Given the description of an element on the screen output the (x, y) to click on. 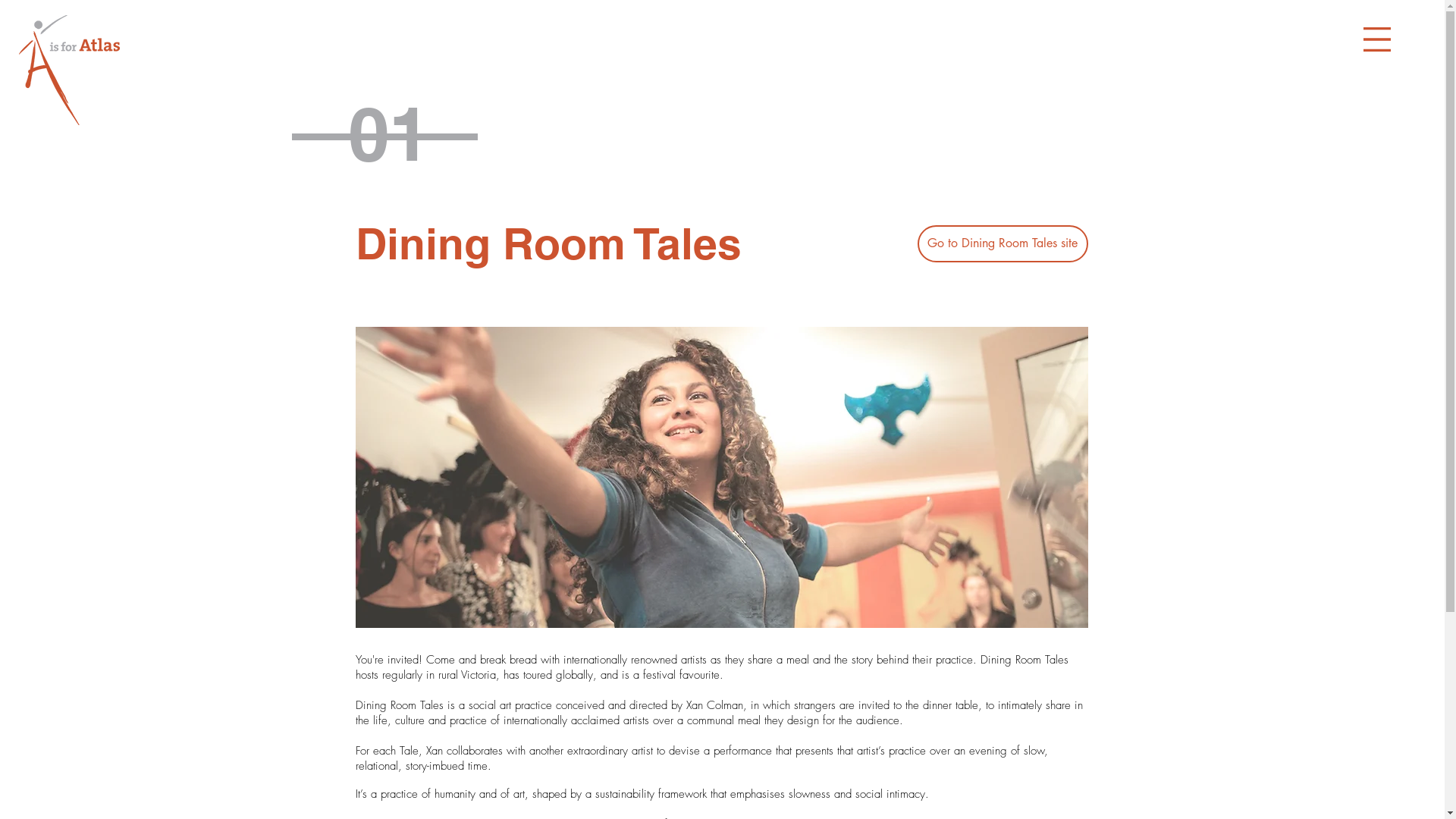
Go to Dining Room Tales site Element type: text (1002, 243)
